Given the description of an element on the screen output the (x, y) to click on. 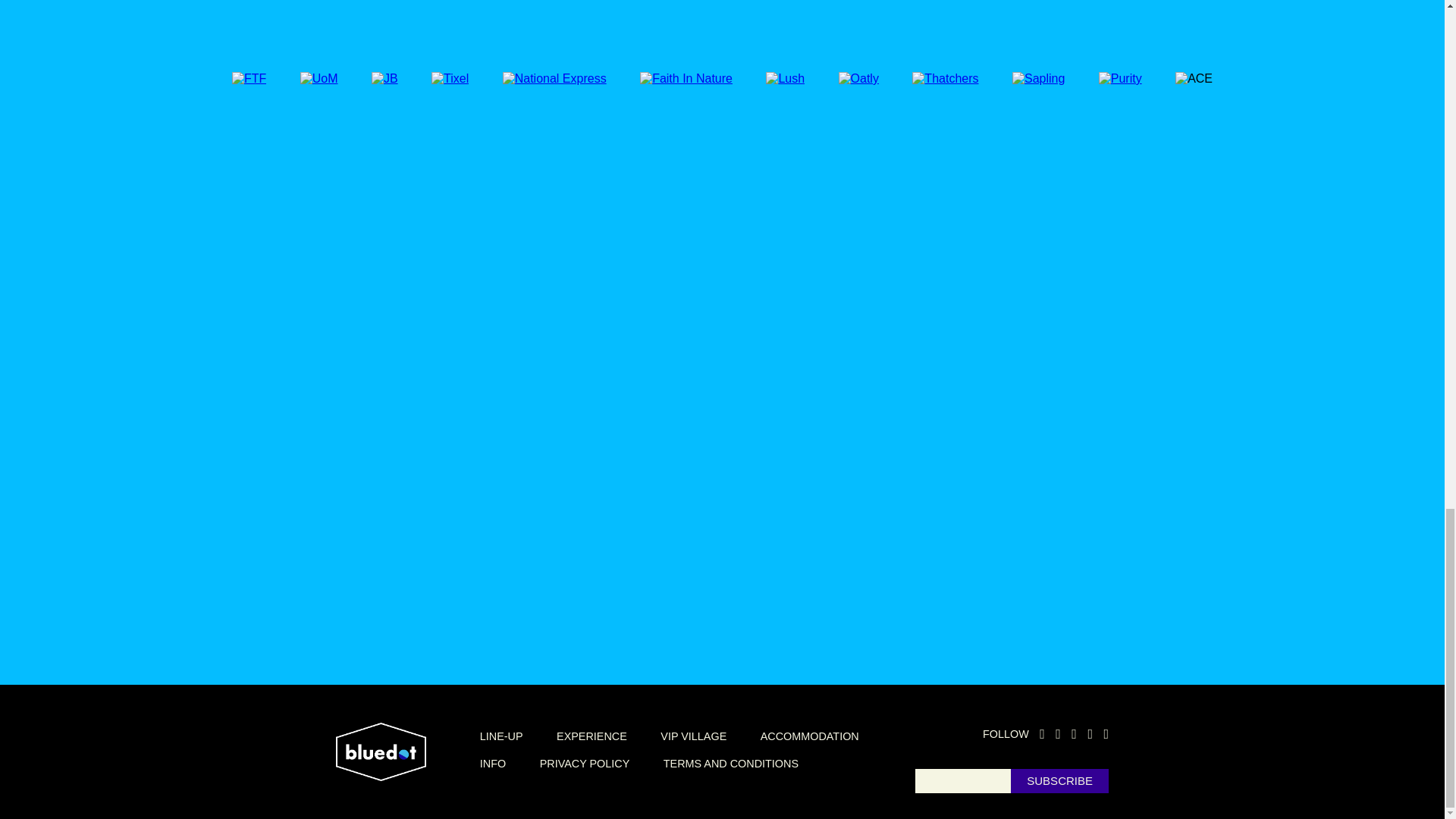
EXPERIENCE (591, 736)
TERMS AND CONDITIONS (730, 763)
SUBSCRIBE (1059, 781)
LINE-UP (501, 736)
PRIVACY POLICY (585, 763)
ACCOMMODATION (809, 736)
VIP VILLAGE (693, 736)
INFO (492, 763)
